Given the description of an element on the screen output the (x, y) to click on. 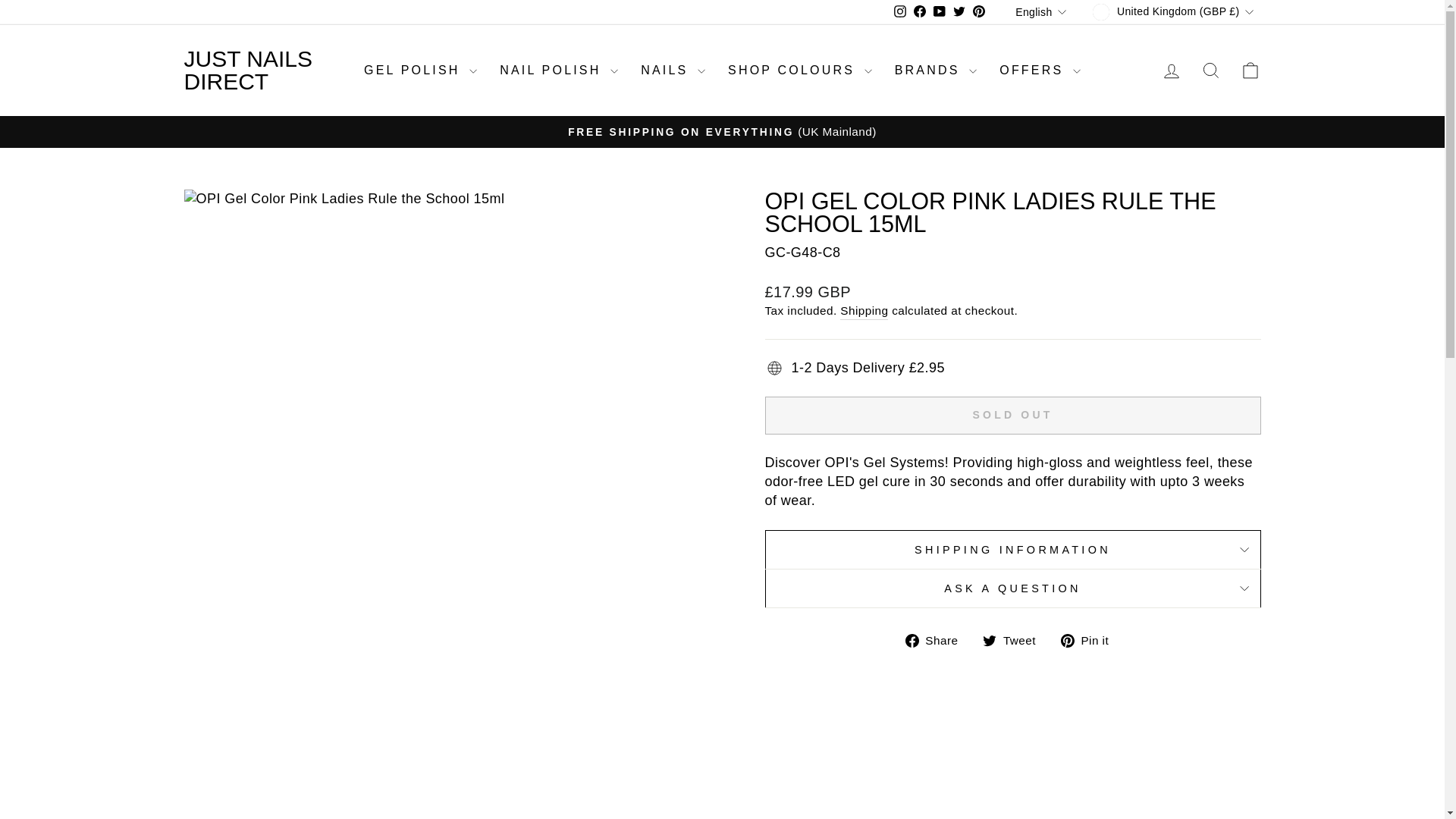
twitter (959, 10)
Just Nails Direct  on Instagram (899, 11)
Share on Facebook (937, 640)
Just Nails Direct  on Pinterest (978, 11)
ACCOUNT (1170, 70)
Just Nails Direct  on Twitter (959, 11)
instagram (899, 10)
Just Nails Direct  on YouTube (939, 11)
ICON-BAG-MINIMAL (1249, 70)
Just Nails Direct  on Facebook (920, 11)
ICON-SEARCH (1210, 70)
Tweet on Twitter (1014, 640)
Pin on Pinterest (1090, 640)
